Given the description of an element on the screen output the (x, y) to click on. 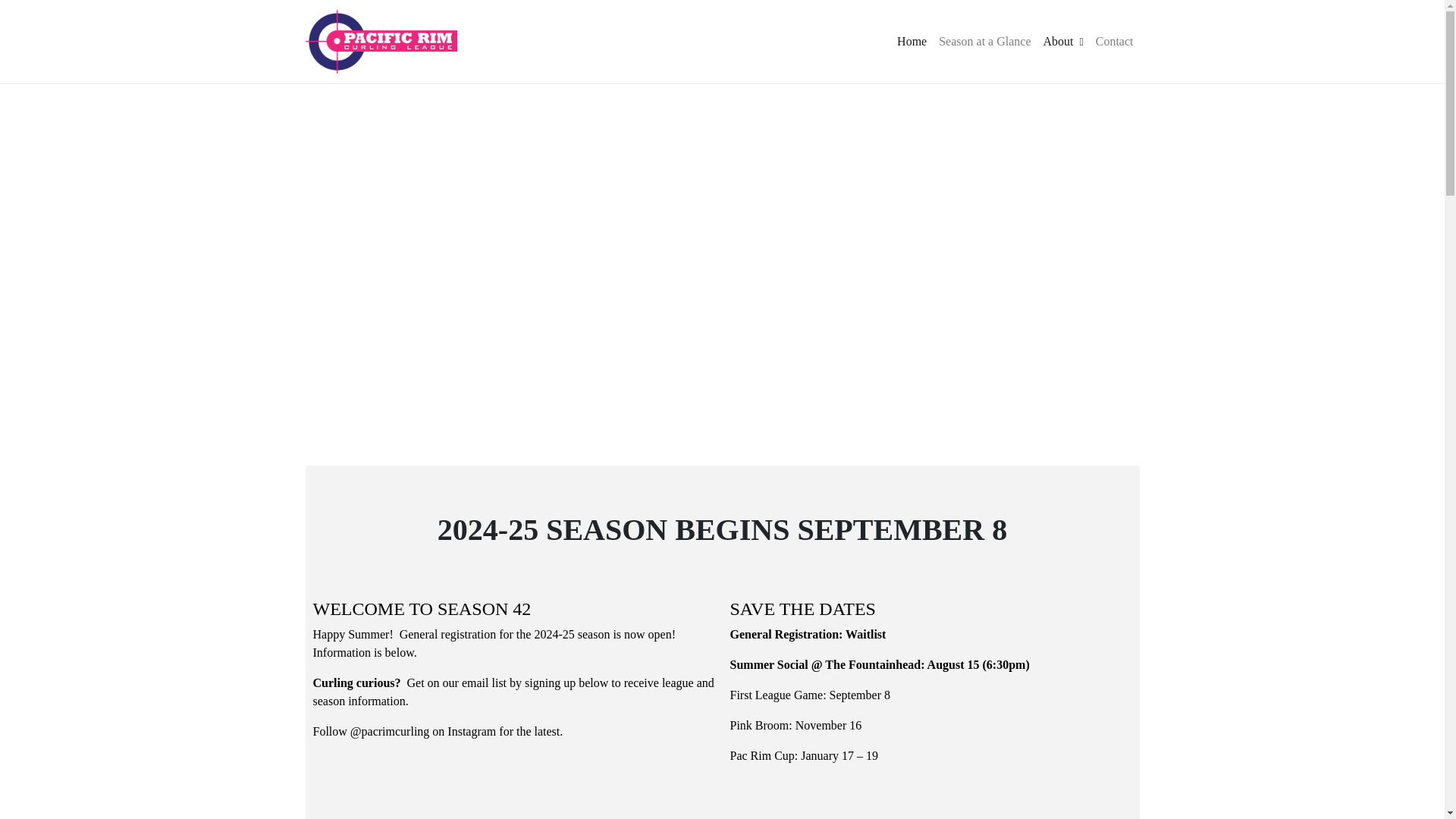
Contact (1114, 41)
Season at a Glance (984, 41)
Home (912, 41)
About (1062, 41)
